Given the description of an element on the screen output the (x, y) to click on. 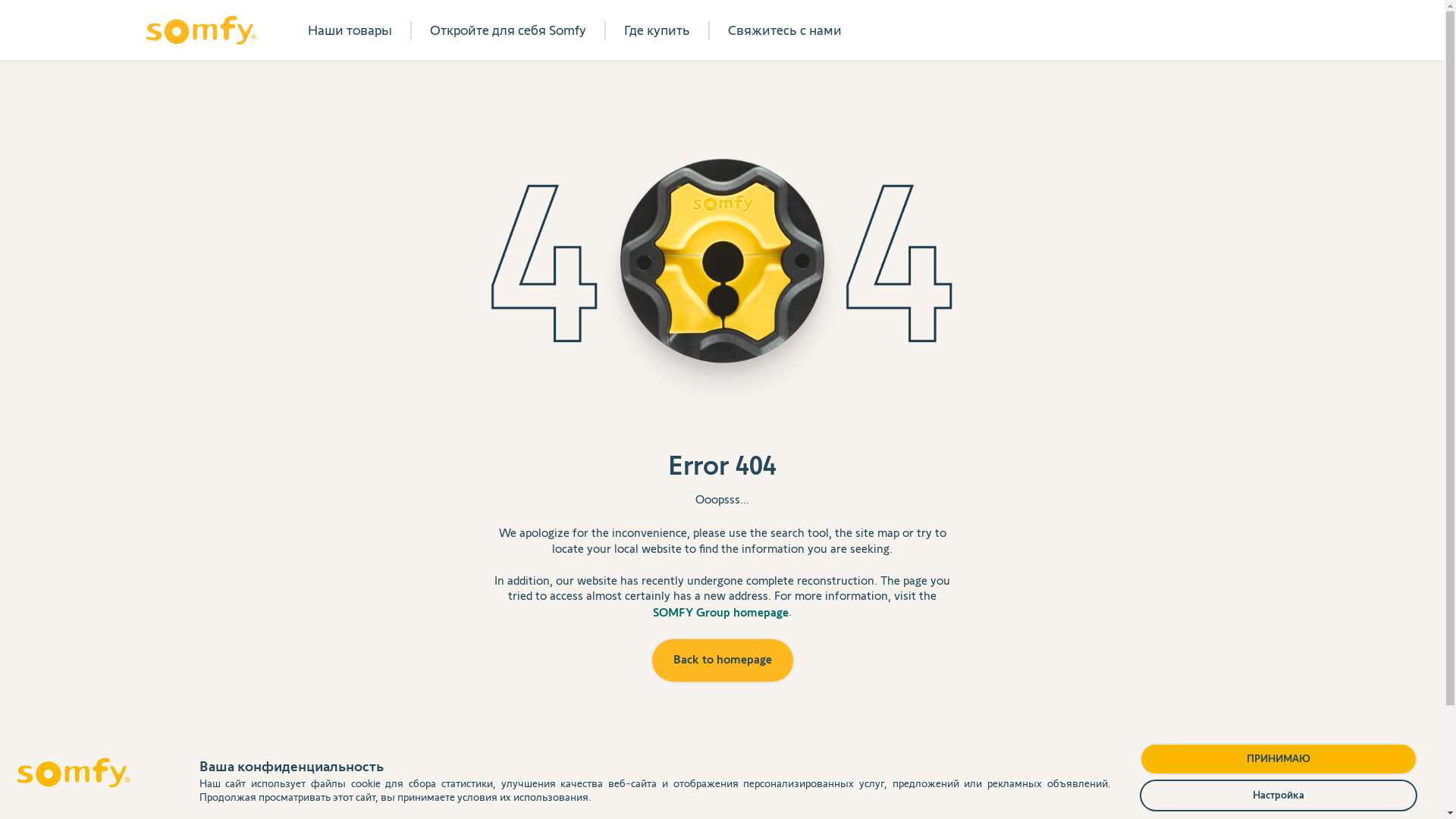
SOMFY Group homepage Element type: text (720, 613)
Back to homepage Element type: text (722, 660)
